Given the description of an element on the screen output the (x, y) to click on. 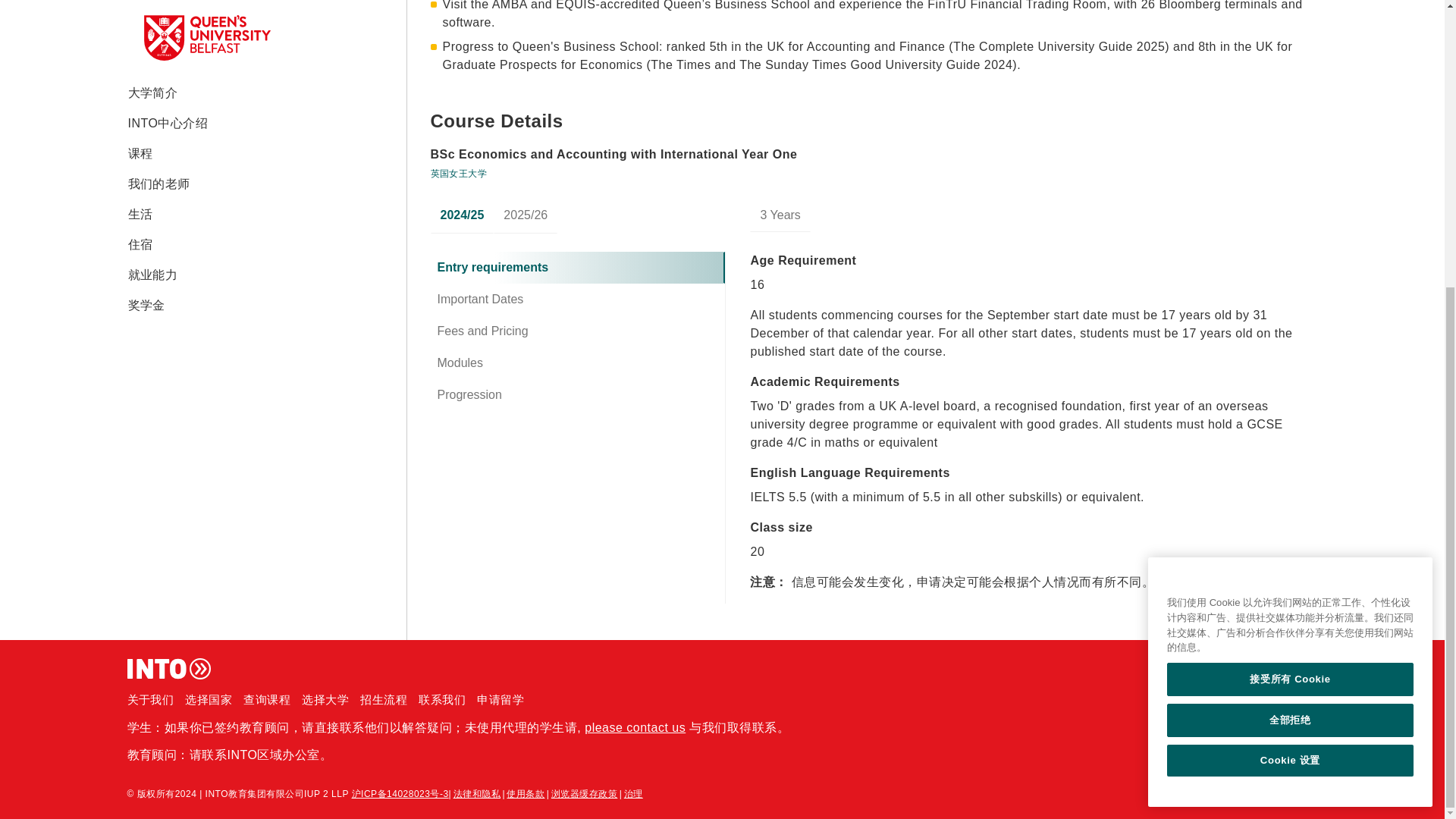
Entry requirements (577, 267)
Fees and Pricing (577, 331)
Progression (577, 395)
Important Dates (577, 299)
Modules (577, 363)
